Given the description of an element on the screen output the (x, y) to click on. 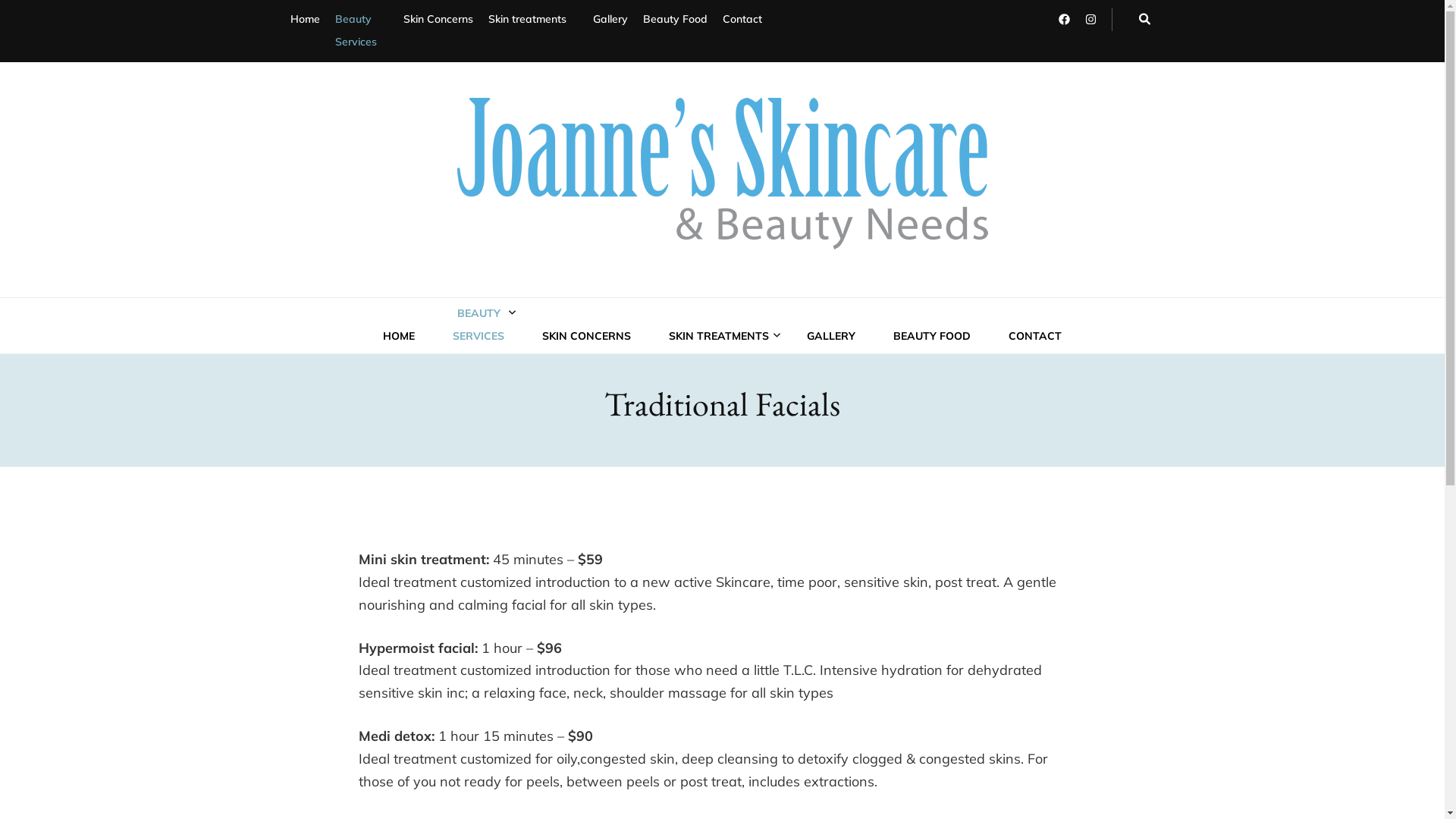
CONTACT Element type: text (1034, 336)
SKIN CONCERNS Element type: text (586, 336)
Contact Element type: text (741, 19)
Home Element type: text (304, 19)
Beauty
Services Element type: text (361, 31)
Gallery Element type: text (610, 19)
BEAUTY FOOD Element type: text (931, 336)
Skin treatments Element type: text (532, 19)
Joannes Skincare and Beauty Needs Element type: text (631, 276)
BEAUTY
SERVICES Element type: text (478, 325)
GALLERY Element type: text (830, 336)
Skin Concerns Element type: text (438, 19)
HOME Element type: text (398, 336)
SKIN TREATMENTS Element type: text (718, 336)
Beauty Food Element type: text (675, 19)
